Given the description of an element on the screen output the (x, y) to click on. 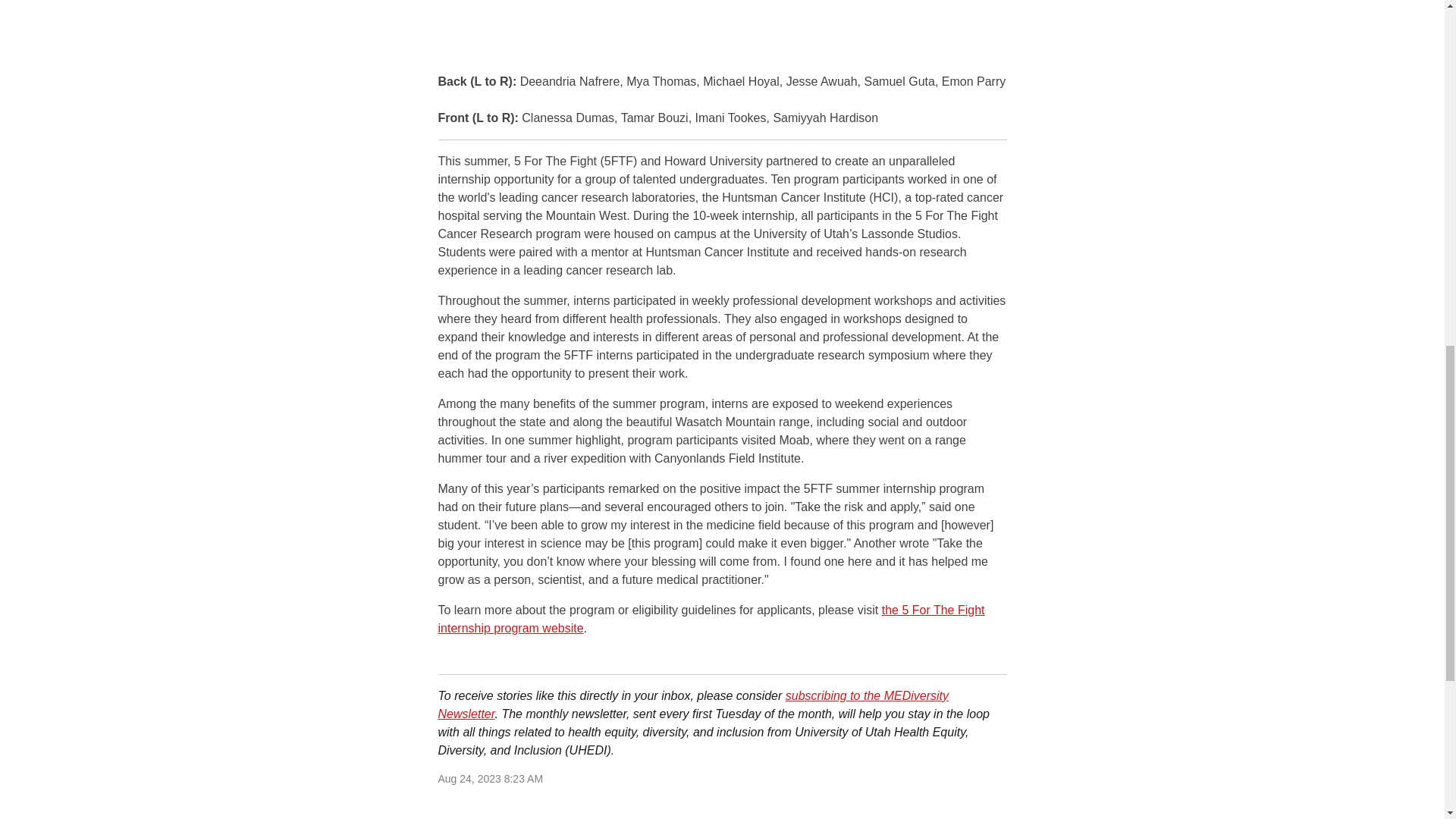
subscribing to the MEDiversity Newsletter (693, 704)
the 5 For The Fight internship program website (711, 618)
2023 Five for the fight interns (722, 36)
